Given the description of an element on the screen output the (x, y) to click on. 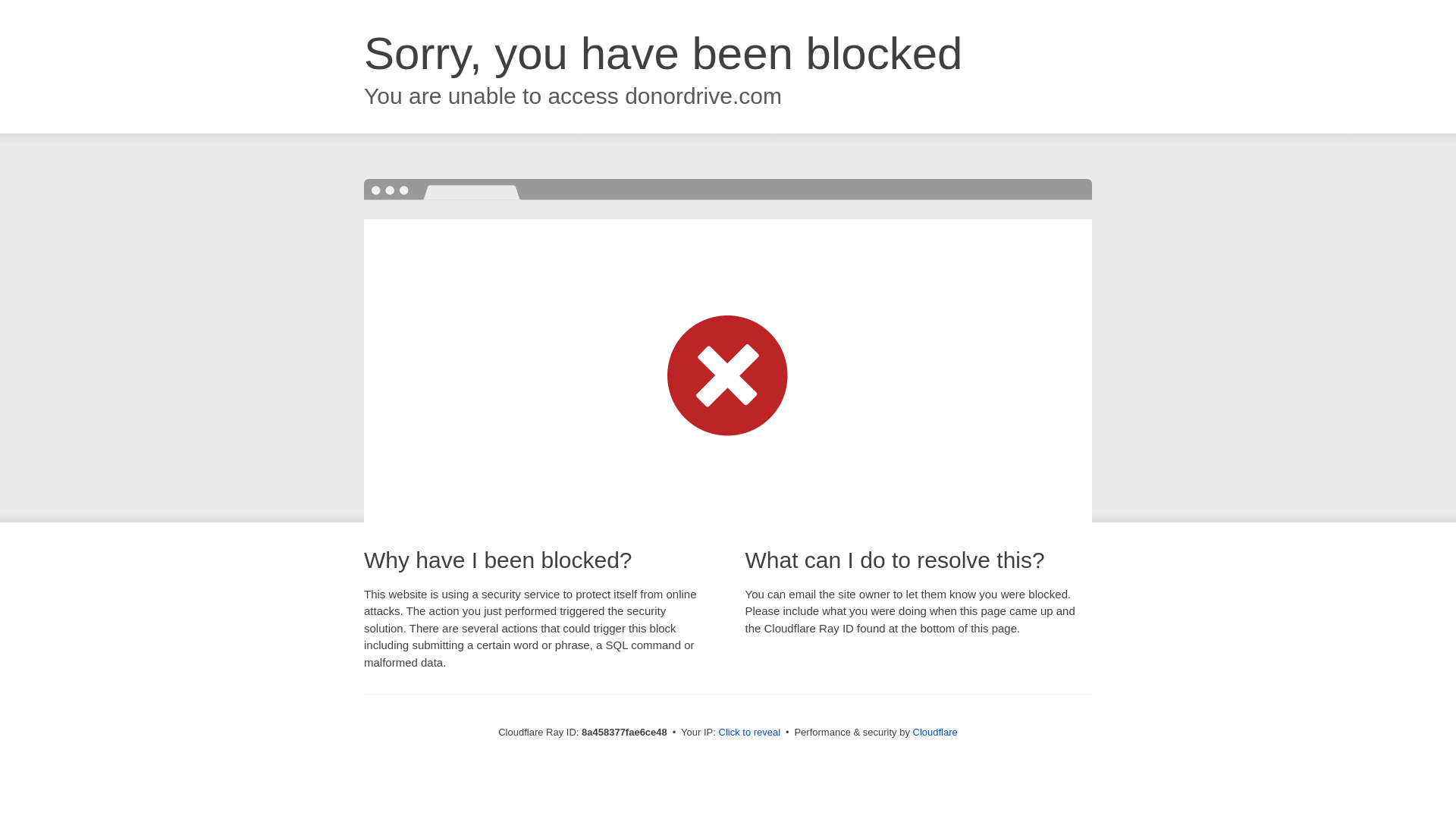
Click to reveal (749, 732)
Cloudflare (935, 731)
